Given the description of an element on the screen output the (x, y) to click on. 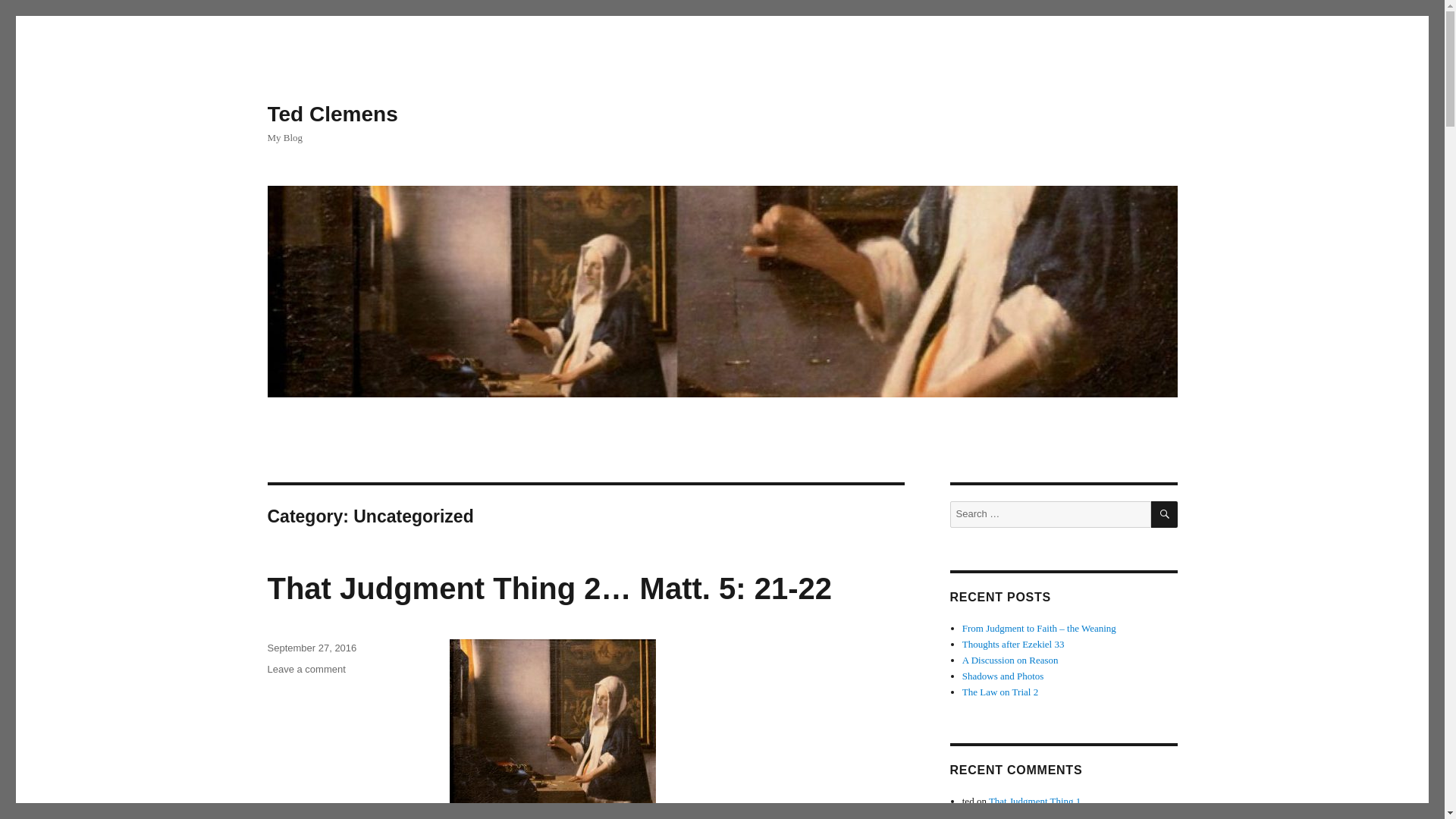
The Law on Trial 2 (1000, 691)
Thoughts after Ezekiel 33 (1013, 644)
A Discussion on Reason (1010, 659)
Ted Clemens (331, 114)
SEARCH (1164, 514)
Shadows and Photos (1002, 675)
September 27, 2016 (311, 647)
